Given the description of an element on the screen output the (x, y) to click on. 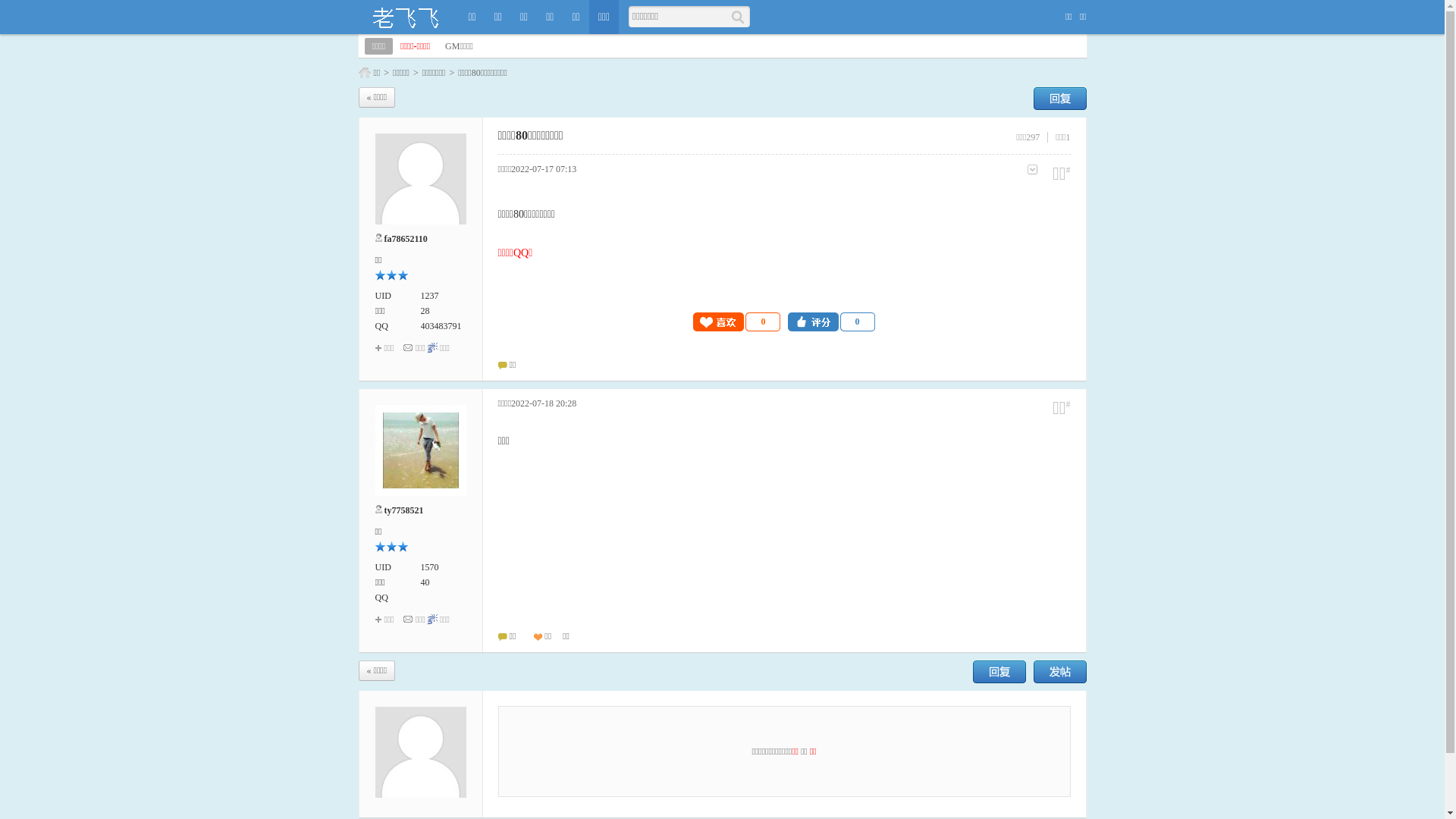
0 Element type: text (737, 321)
ty7758521 Element type: text (403, 510)
28 Element type: text (424, 310)
40 Element type: text (424, 582)
fa78652110 Element type: text (404, 238)
0 Element type: text (831, 321)
